Given the description of an element on the screen output the (x, y) to click on. 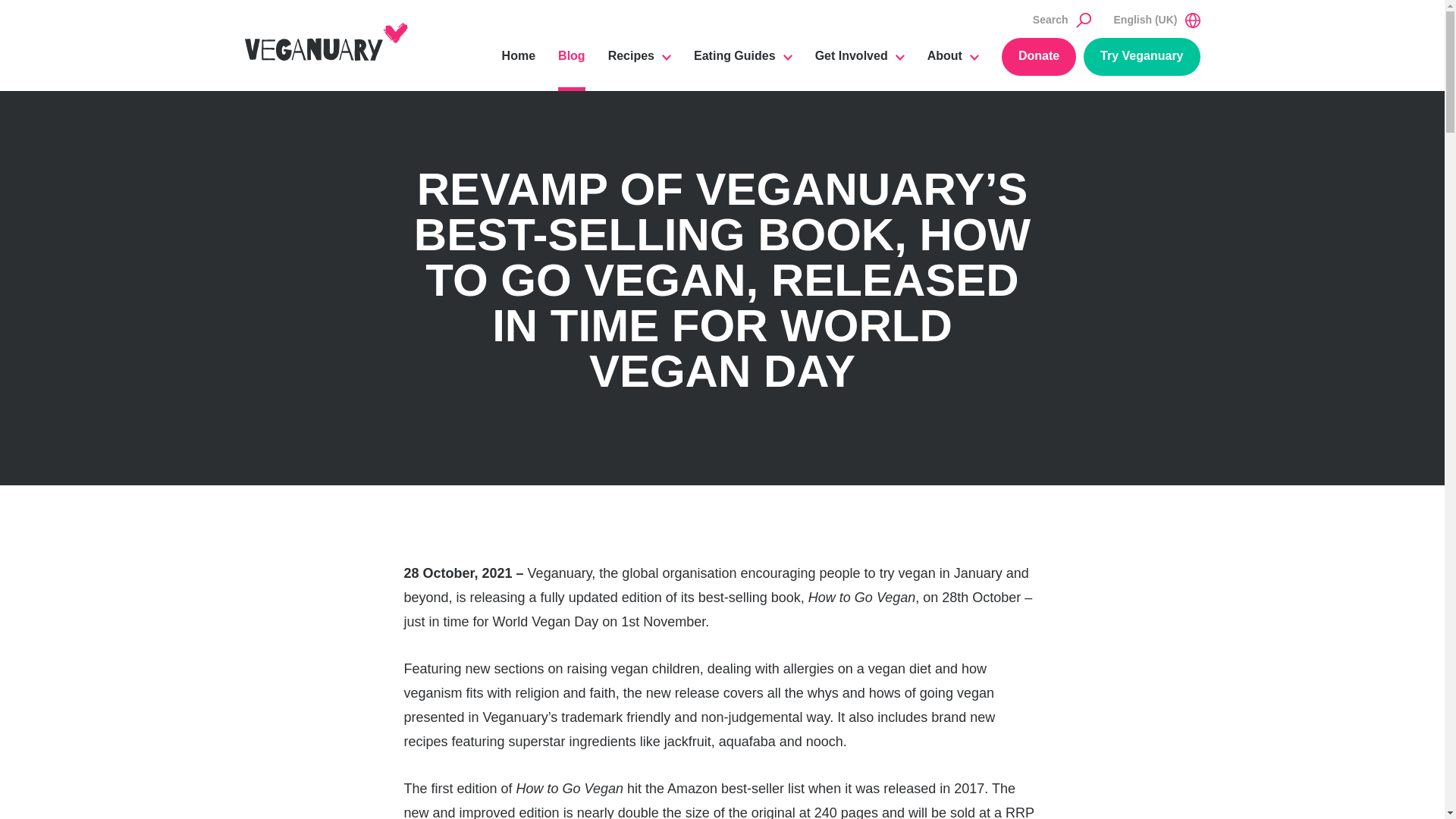
About (952, 63)
Try Veganuary (1141, 56)
Eating Guides (743, 63)
Recipes (639, 63)
Donate (1038, 56)
Donate (1038, 56)
Get Involved (859, 63)
Try Veganuary (1141, 56)
